Given the description of an element on the screen output the (x, y) to click on. 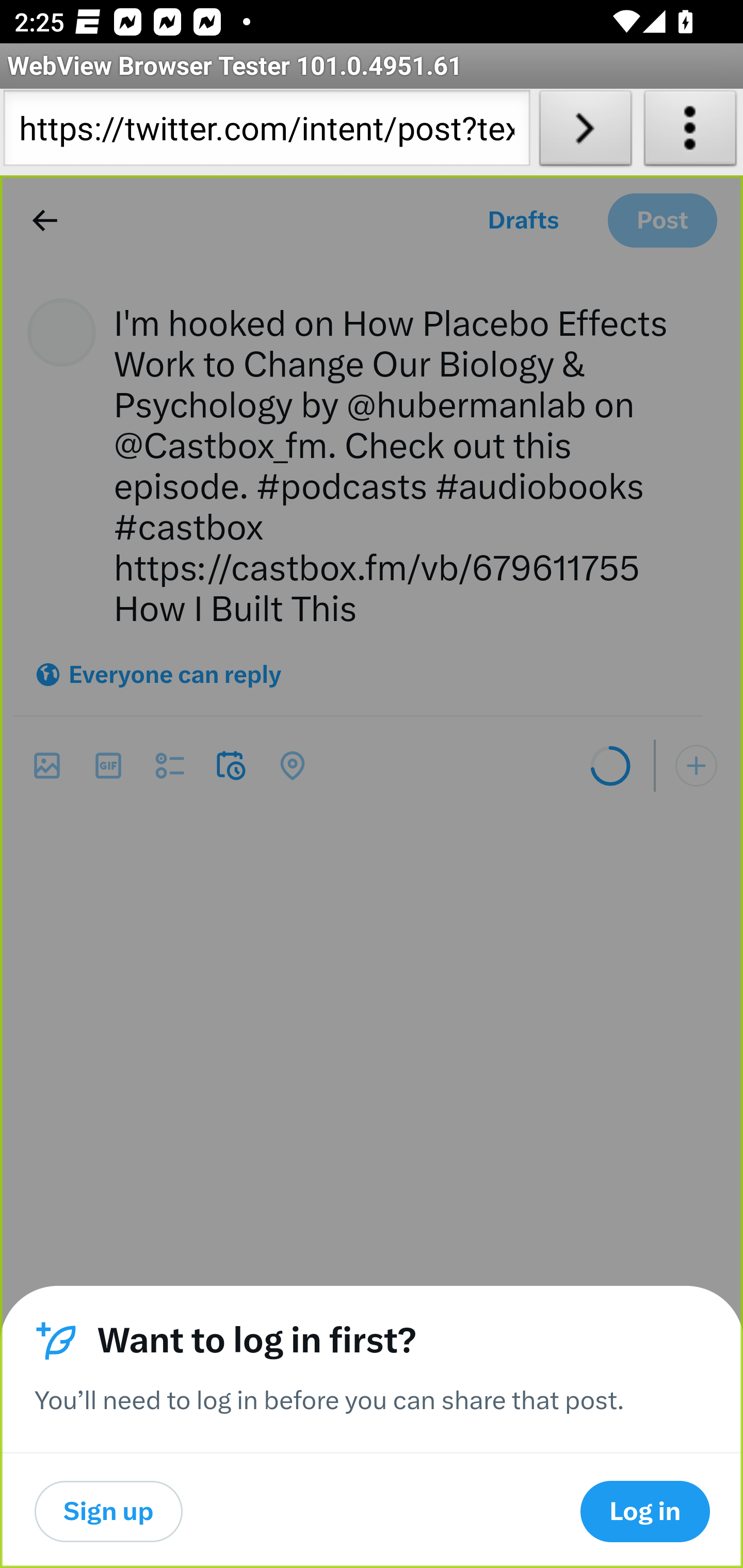
Load URL (585, 132)
About WebView (690, 132)
